Given the description of an element on the screen output the (x, y) to click on. 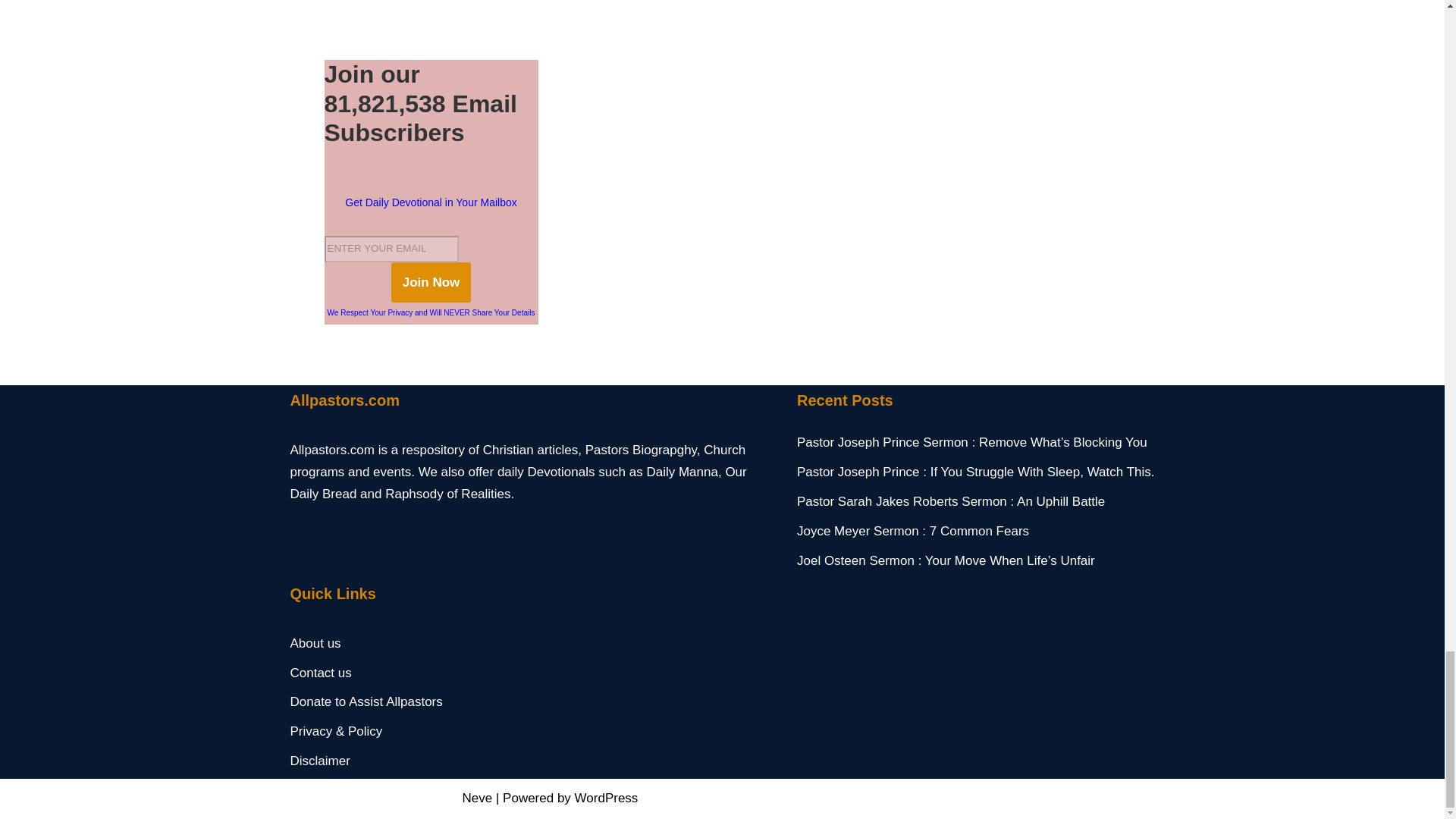
Join Now (431, 282)
